Given the description of an element on the screen output the (x, y) to click on. 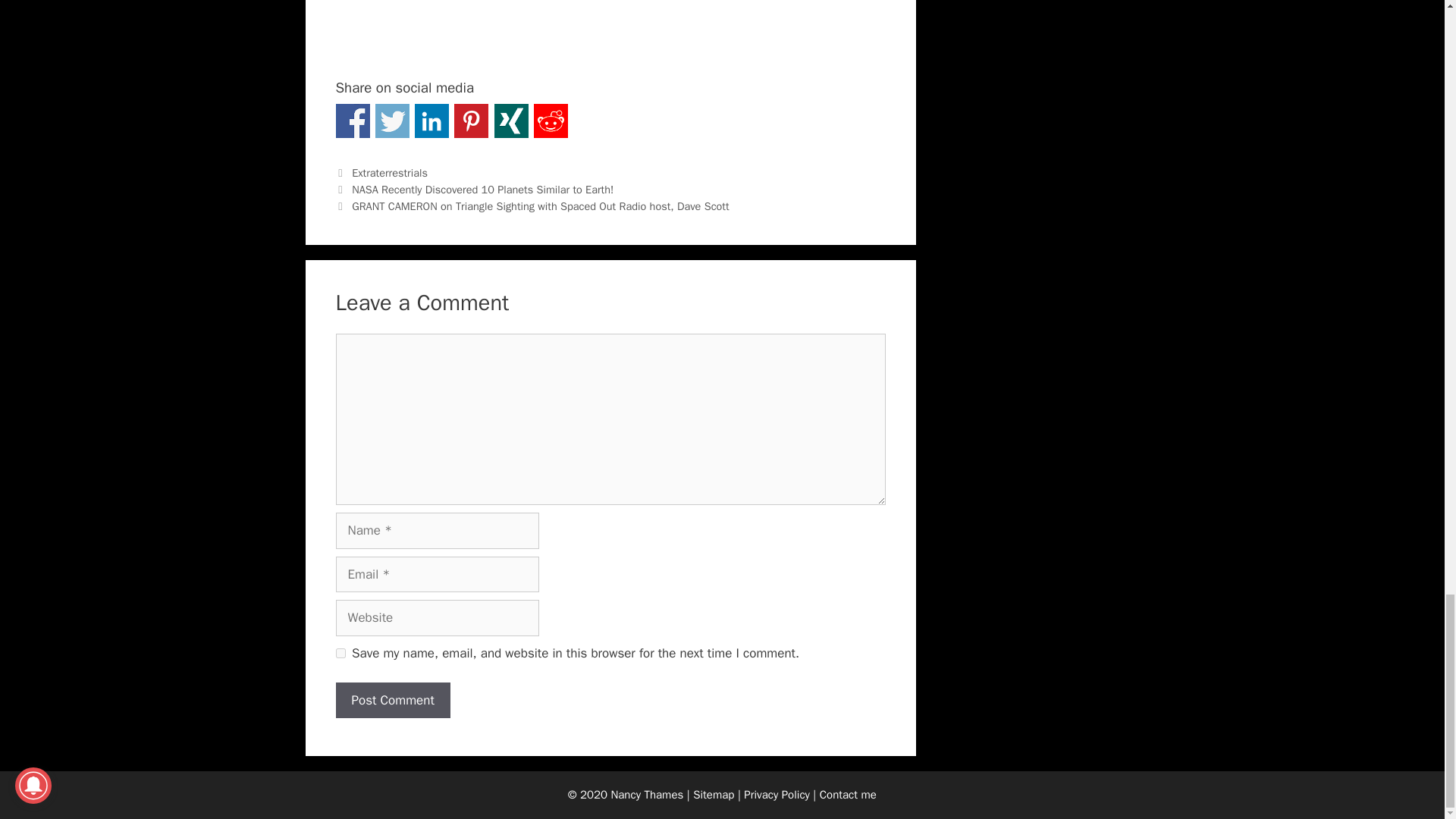
Share on Facebook (351, 121)
Share on Linkedin (431, 121)
Post Comment (391, 700)
yes (339, 653)
Share on Reddit (550, 121)
NASA Recently Discovered 10 Planets Similar to Earth! (482, 189)
Share on Xing (511, 121)
Share on Twitter (392, 121)
Extraterrestrials (390, 172)
Share on Pinterest (470, 121)
